Given the description of an element on the screen output the (x, y) to click on. 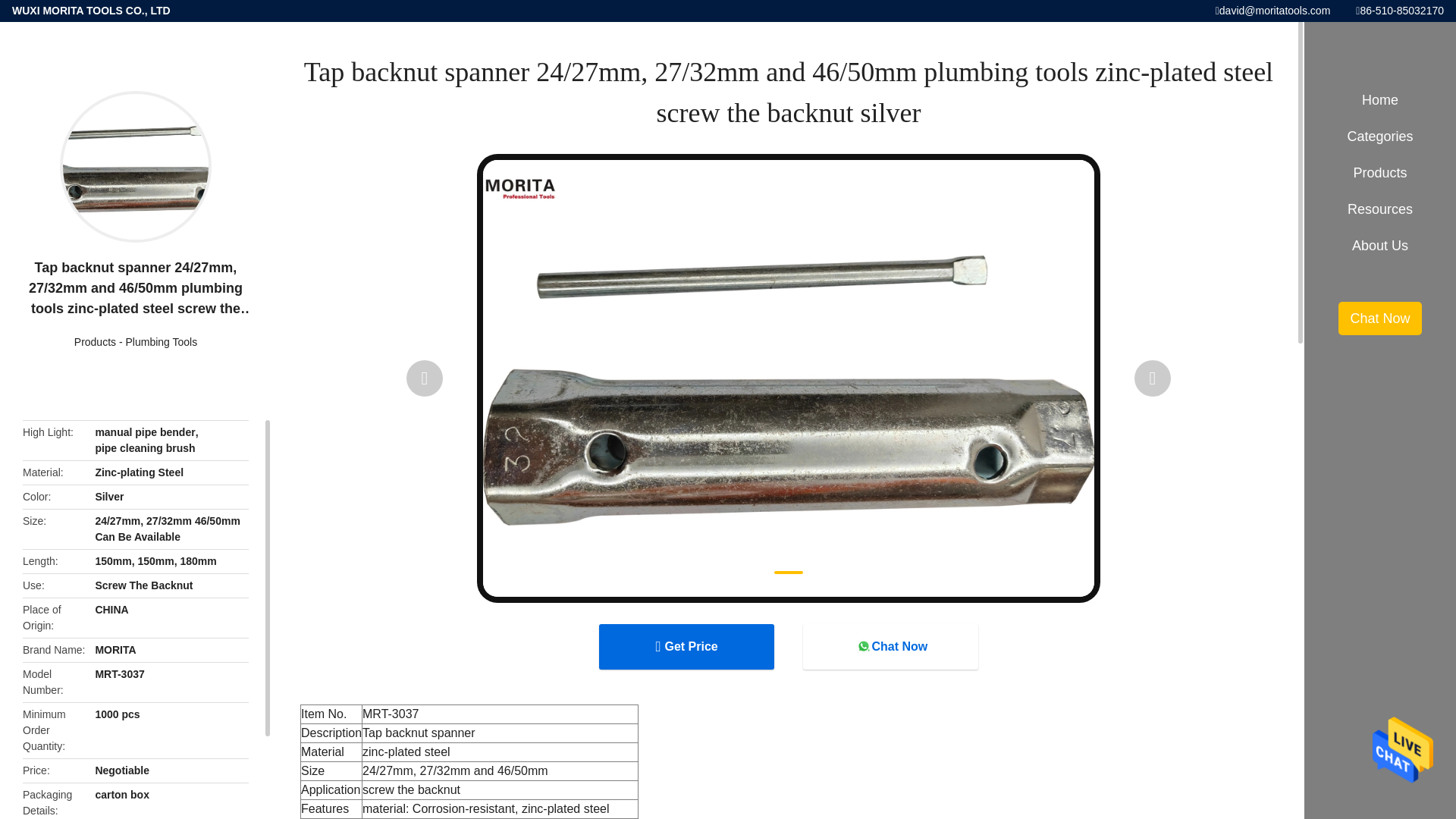
China Plumbing Tools Manufacturers (161, 341)
Get Price (685, 646)
Products (95, 341)
Plumbing Tools (161, 341)
Chat Now (889, 646)
Products (95, 341)
Categories (1379, 135)
Home (1379, 99)
